Given the description of an element on the screen output the (x, y) to click on. 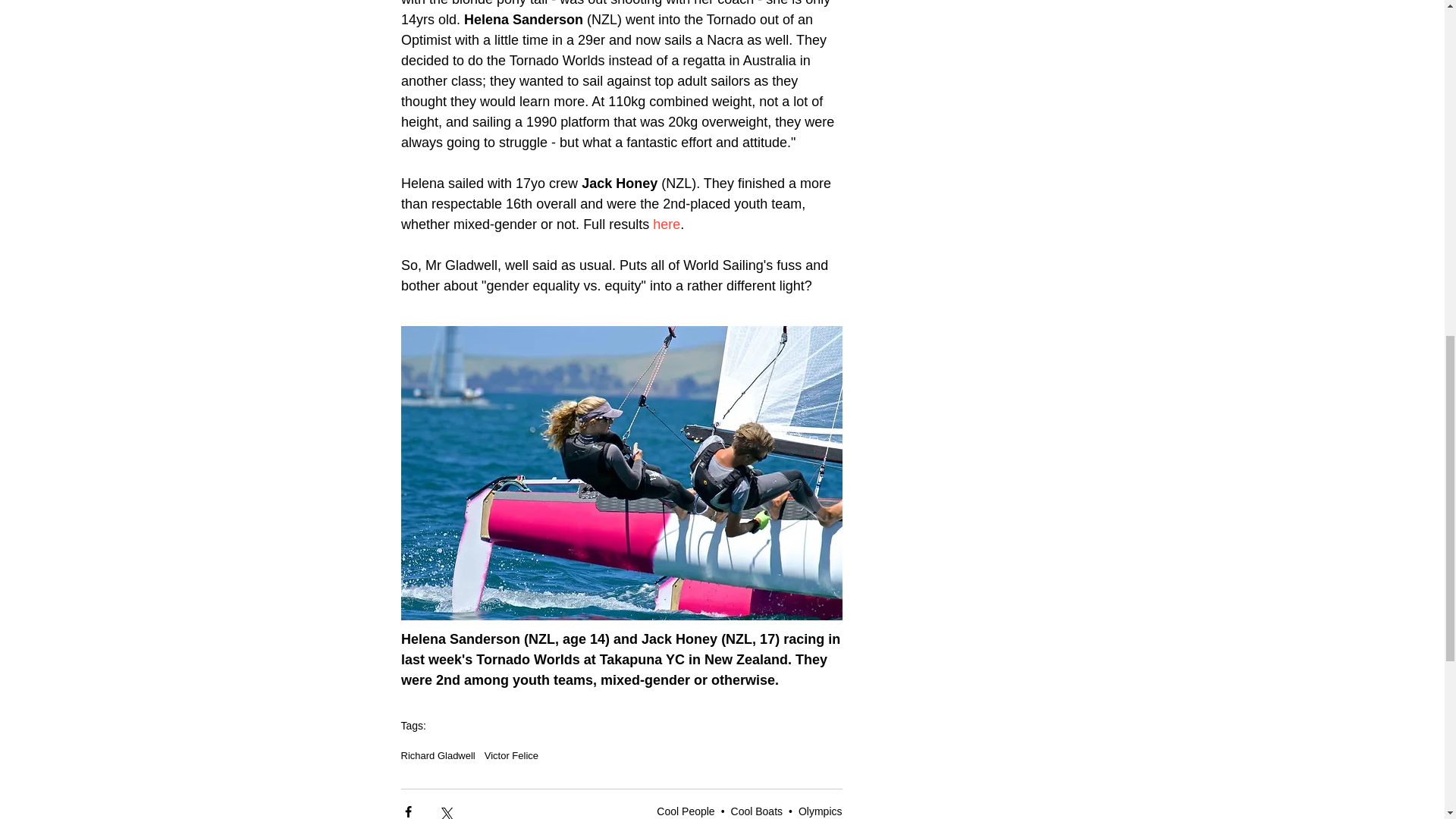
Victor Felice (511, 755)
Cool Boats (756, 811)
Olympics (820, 811)
Richard Gladwell (437, 755)
Cool People (685, 811)
here (665, 224)
